Given the description of an element on the screen output the (x, y) to click on. 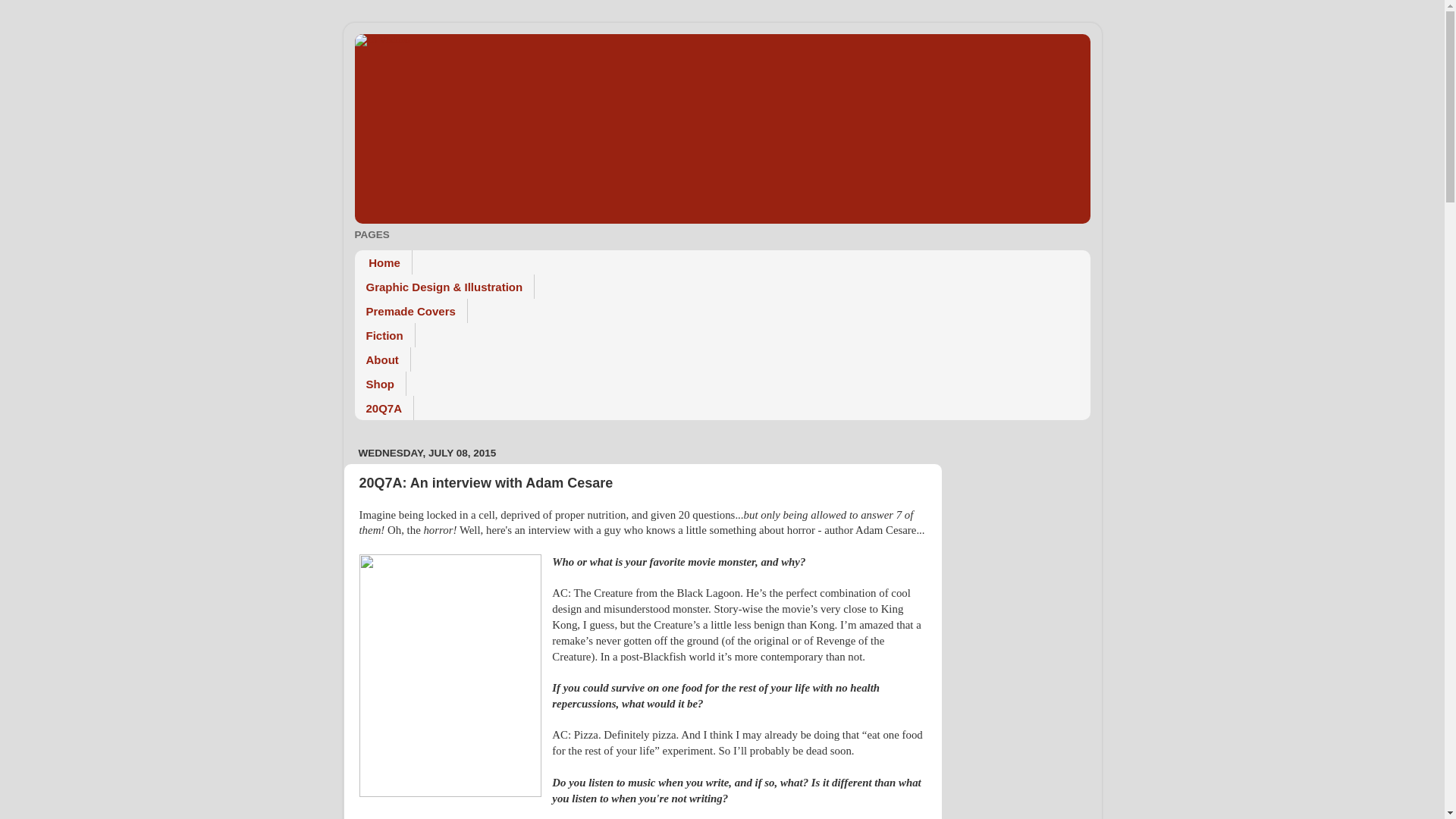
20Q7A Element type: text (384, 407)
Home Element type: text (383, 262)
Fiction Element type: text (384, 335)
About Element type: text (382, 359)
Graphic Design & Illustration Element type: text (444, 286)
Shop Element type: text (380, 383)
Premade Covers Element type: text (410, 310)
